Given the description of an element on the screen output the (x, y) to click on. 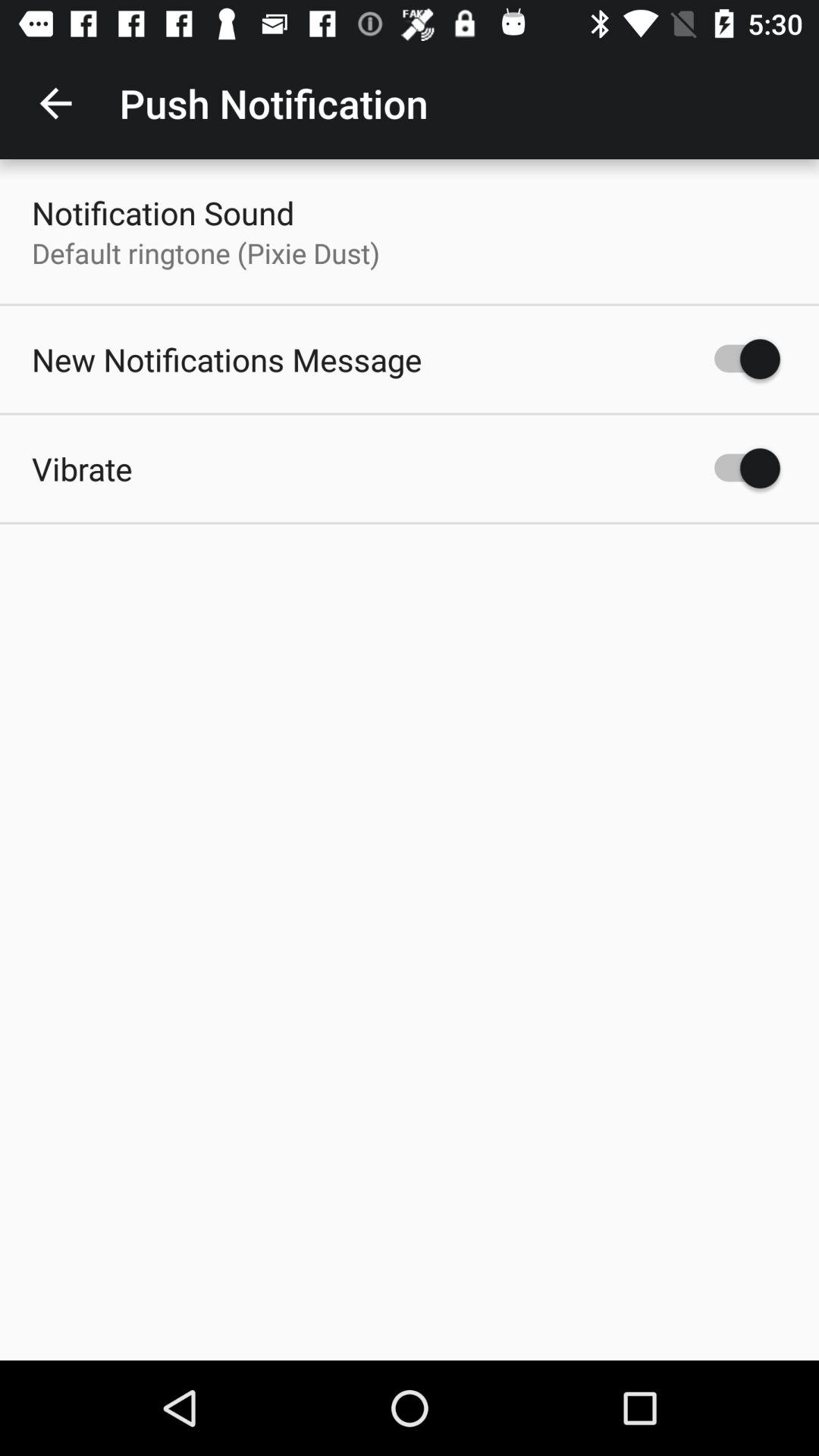
turn on icon below the new notifications message icon (81, 468)
